Given the description of an element on the screen output the (x, y) to click on. 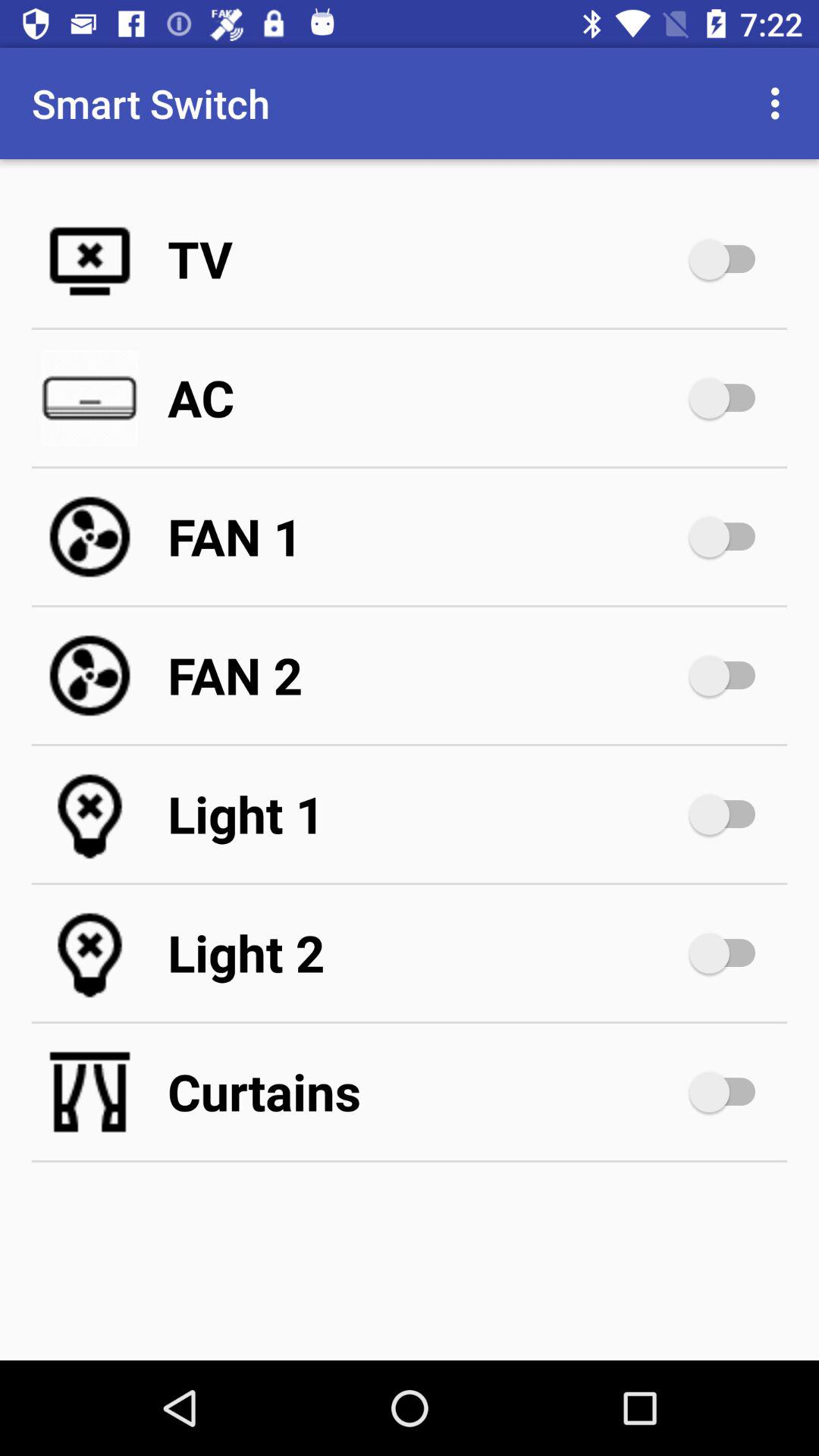
select the fan 1 icon (424, 536)
